Given the description of an element on the screen output the (x, y) to click on. 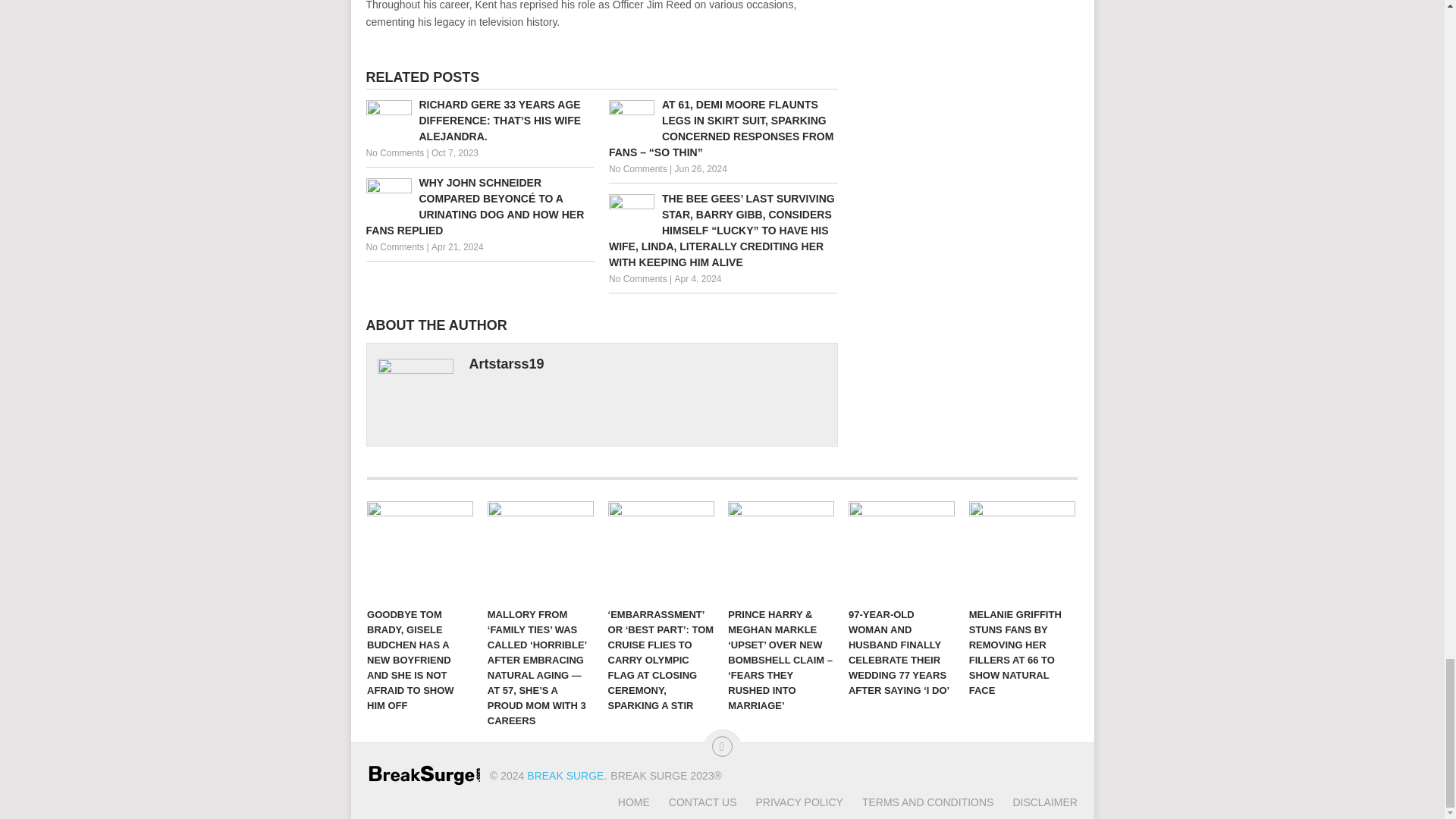
CONTACT US (692, 802)
No Comments (637, 278)
HOME (633, 802)
No Comments (394, 153)
TERMS AND CONDITIONS (917, 802)
No Comments (394, 246)
PRIVACY POLICY (789, 802)
BREAK SURGE (565, 775)
